Given the description of an element on the screen output the (x, y) to click on. 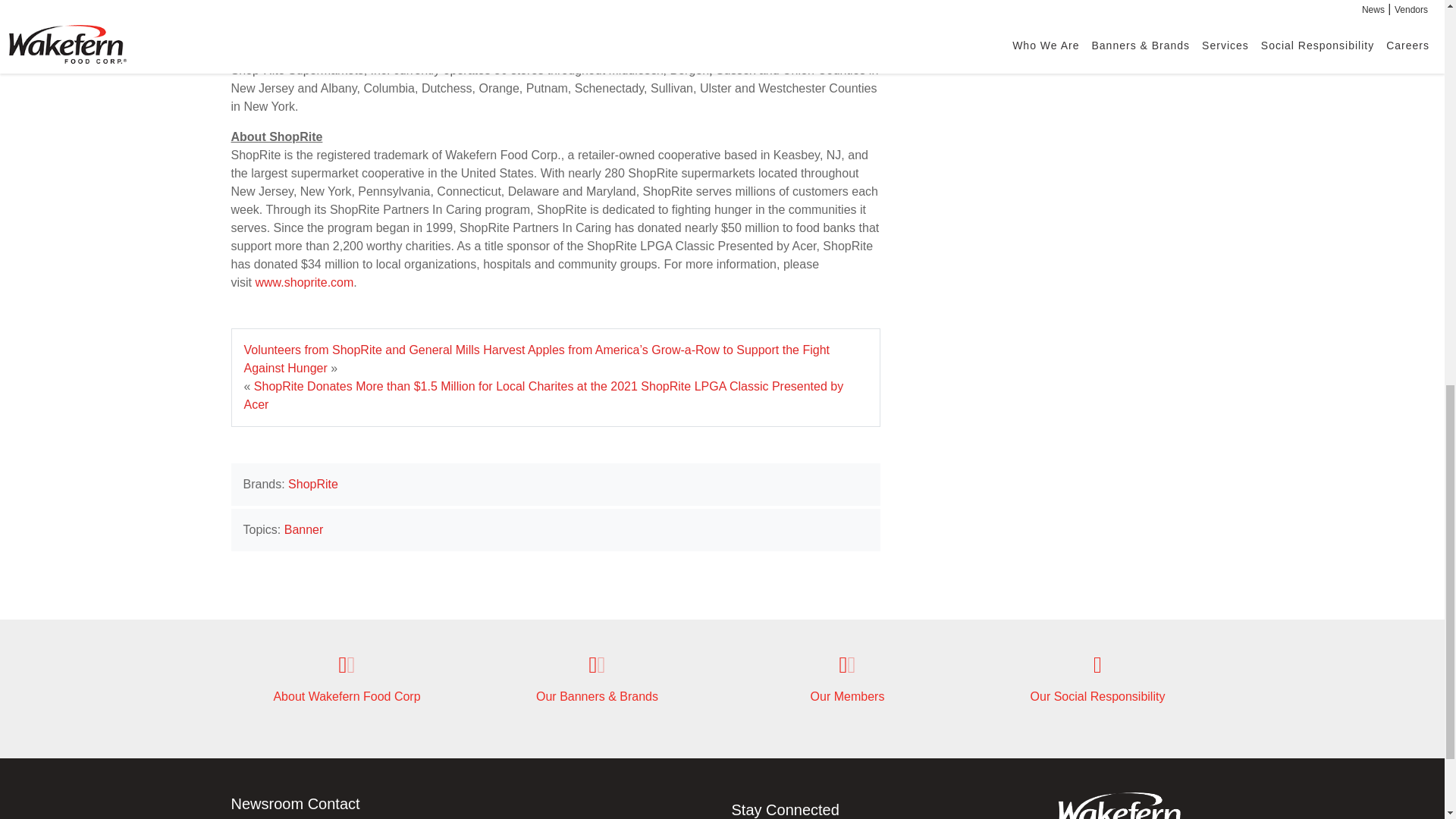
Our Social Responsibility (1096, 679)
Banner (303, 529)
About Wakefern Food Corp (346, 679)
www.shoprite.com (303, 282)
ShopRite (312, 483)
Our Members (846, 679)
